Given the description of an element on the screen output the (x, y) to click on. 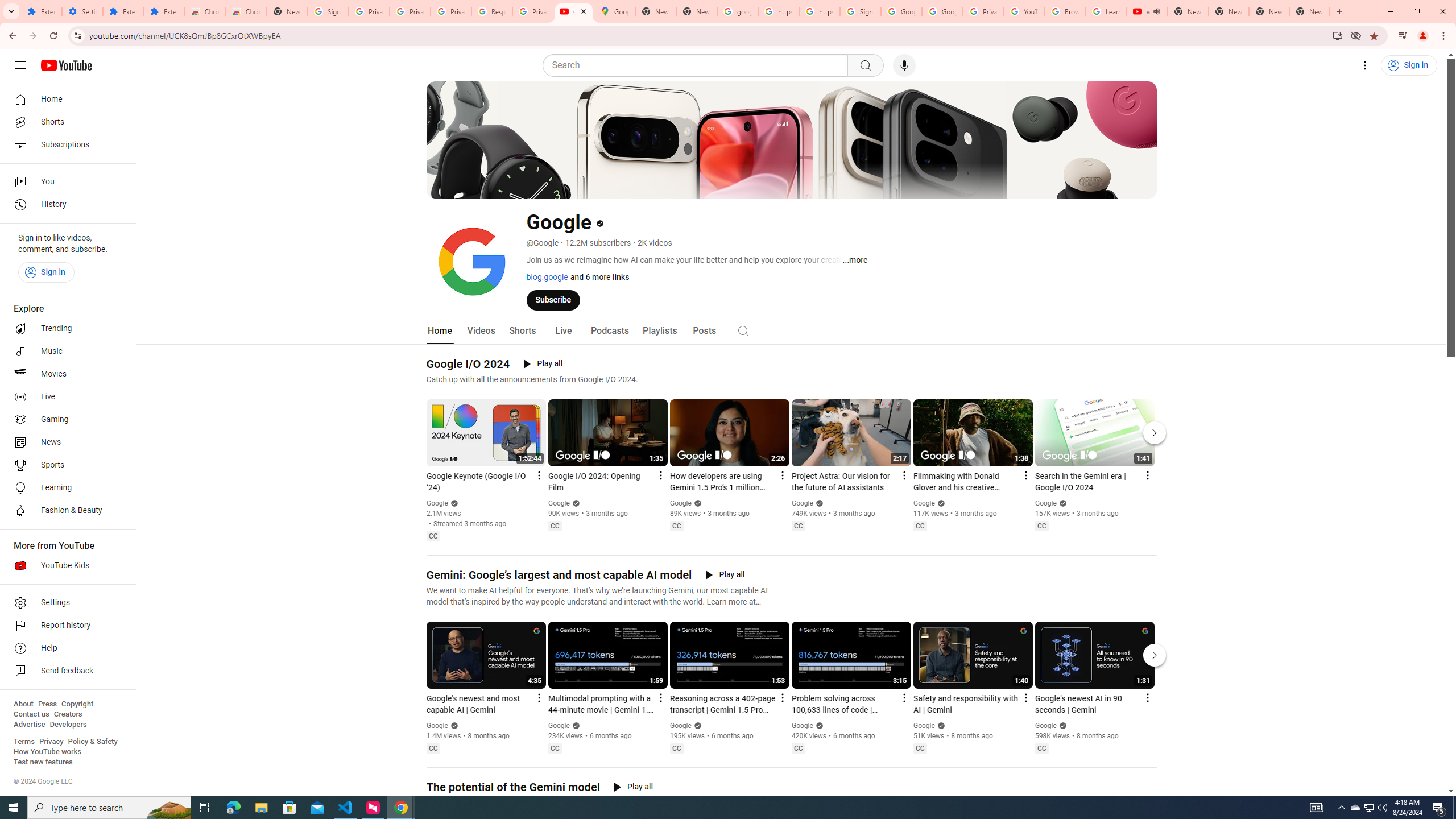
Extensions (163, 11)
Shorts (64, 121)
Music (64, 350)
and 6 more links (598, 276)
